Given the description of an element on the screen output the (x, y) to click on. 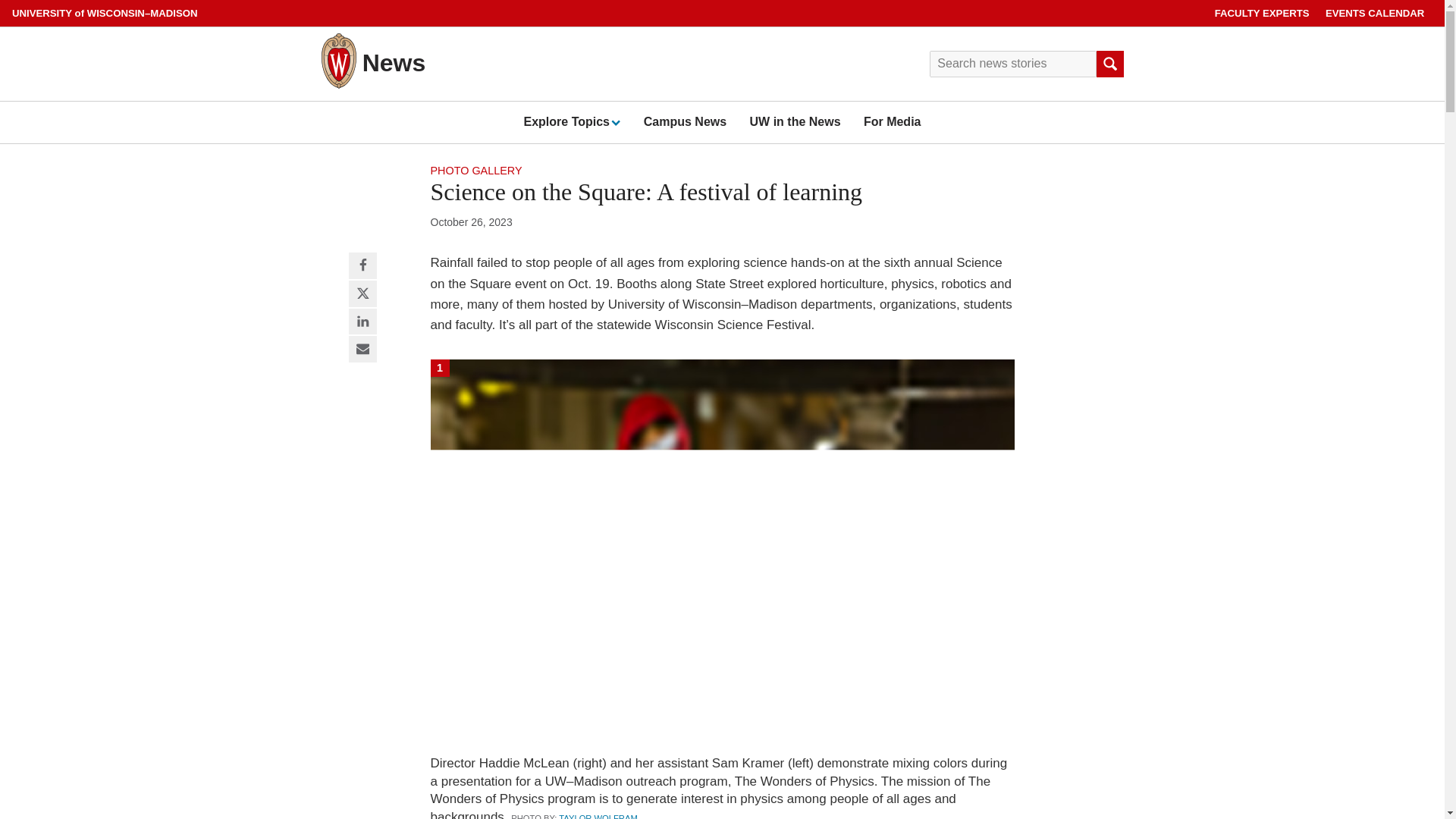
Submit search (1109, 63)
UW in the News (795, 121)
Campus News (684, 121)
FACULTY EXPERTS (1262, 13)
TAYLOR WOLFRAM (598, 816)
Expand (615, 122)
EVENTS CALENDAR (1374, 13)
Skip to main content (3, 3)
News (394, 62)
For Media (892, 121)
